Given the description of an element on the screen output the (x, y) to click on. 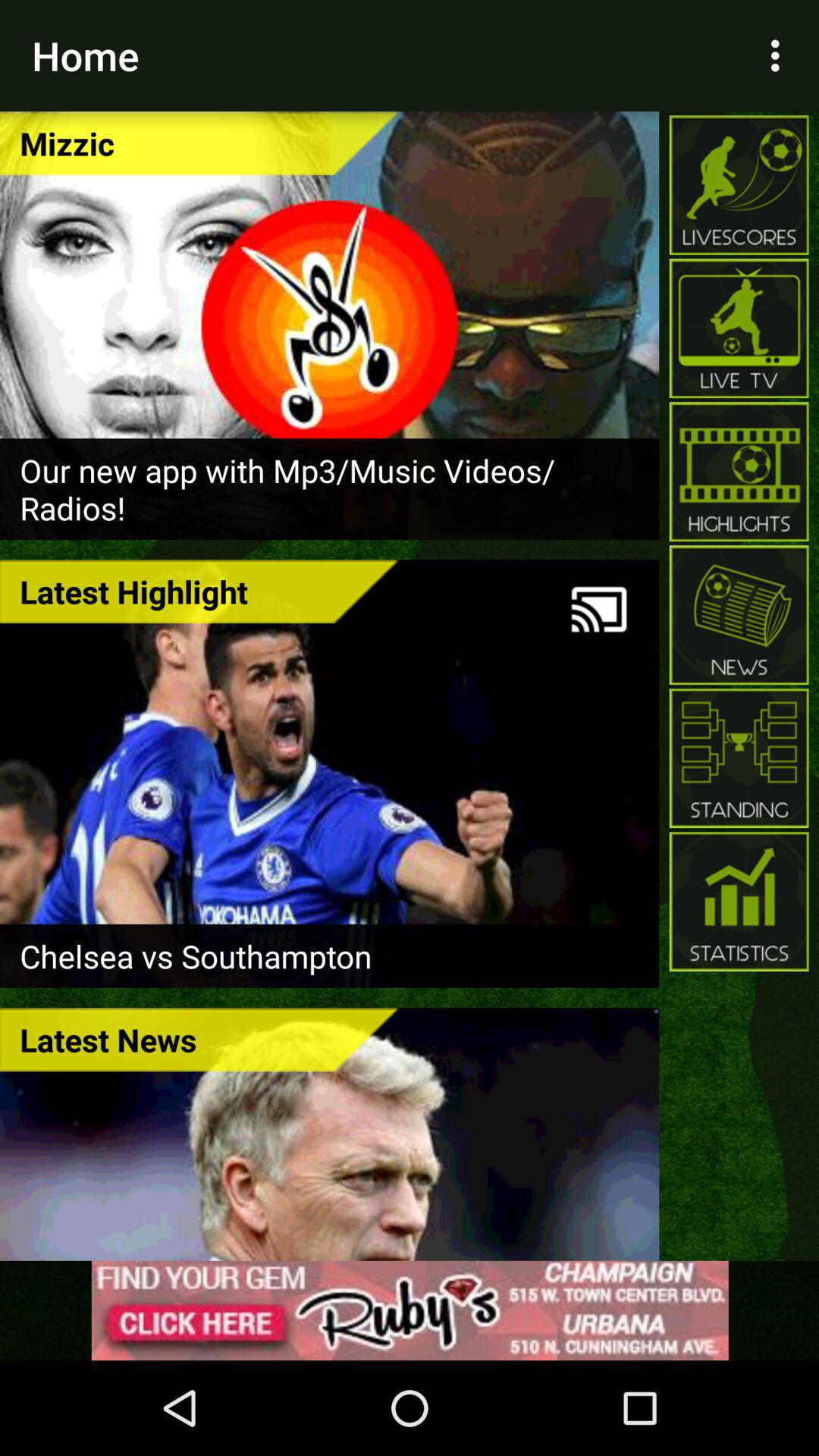
launch mizzic (199, 143)
